Given the description of an element on the screen output the (x, y) to click on. 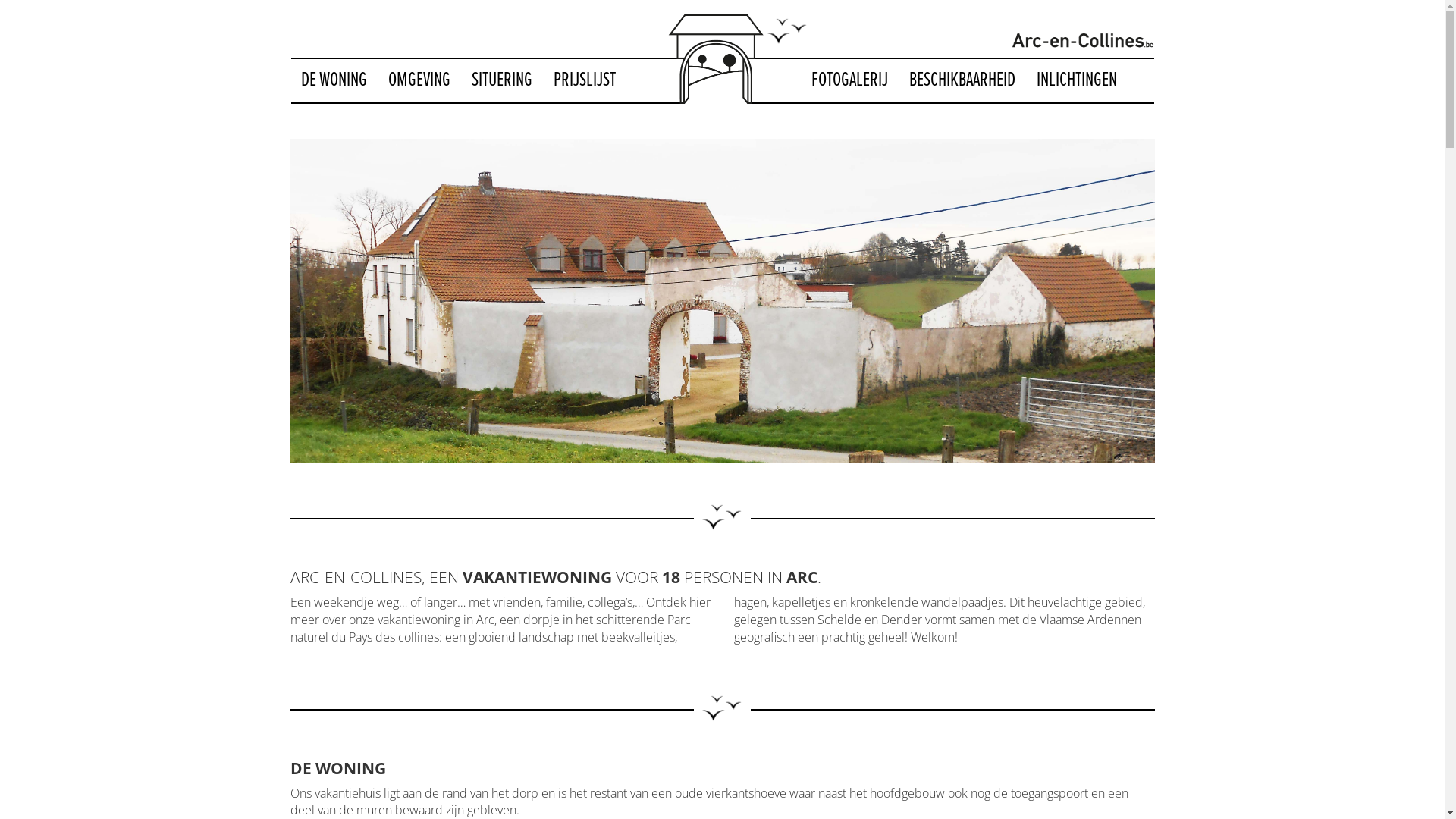
OMGEVING Element type: text (418, 80)
BESCHIKBAARHEID Element type: text (962, 80)
INLICHTINGEN Element type: text (1076, 80)
SITUERING Element type: text (501, 80)
PRIJSLIJST Element type: text (583, 80)
FOTOGALERIJ Element type: text (848, 80)
DE WONING Element type: text (333, 80)
